Given the description of an element on the screen output the (x, y) to click on. 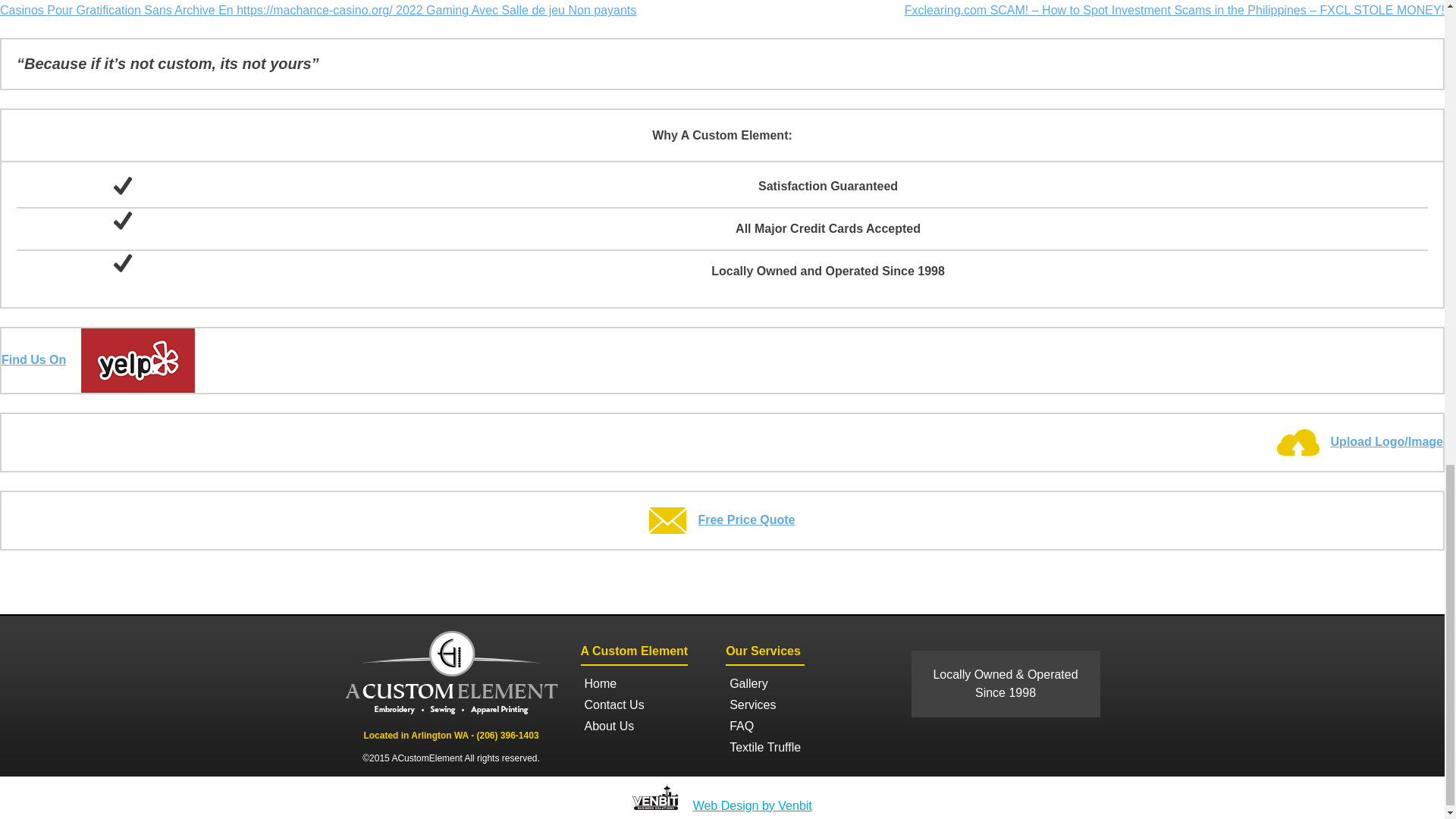
Services (765, 704)
Home (613, 683)
FAQ (765, 726)
Free Price Quote (721, 519)
Web Design by Venbit (746, 805)
Find Us On (98, 359)
Gallery (765, 683)
Contact Us (613, 704)
About Us (613, 726)
Textile Truffle (765, 747)
